Given the description of an element on the screen output the (x, y) to click on. 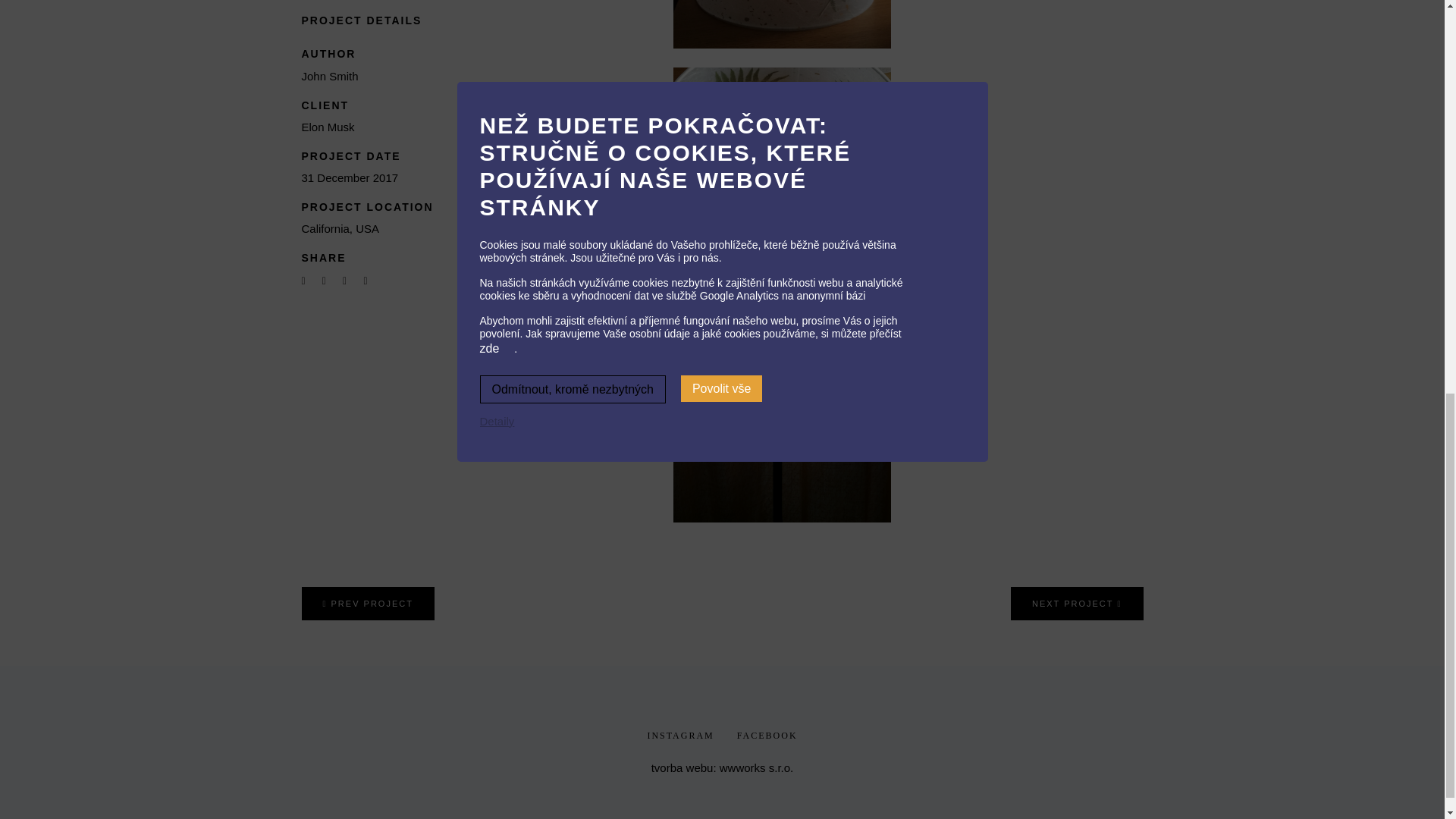
lampshade for a pendant lamp (781, 176)
lampshade for standing lamp ikea (781, 413)
custom chandelier lampshade (781, 24)
INSTAGRAM (679, 735)
PREV PROJECT (367, 603)
NEXT PROJECT (1076, 603)
FACEBOOK (766, 735)
